Given the description of an element on the screen output the (x, y) to click on. 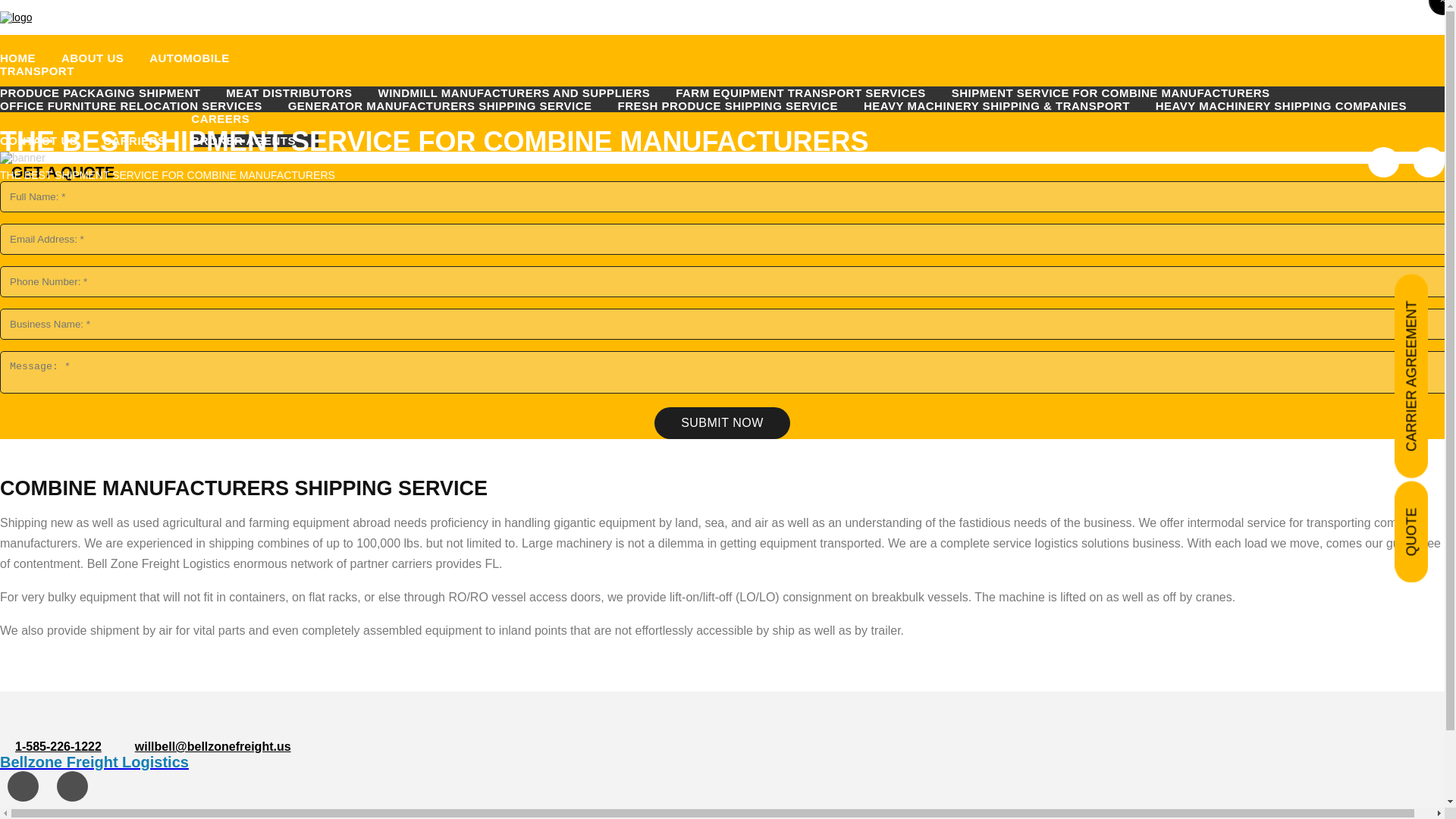
Submit Now (721, 422)
HEAVY MACHINERY SHIPPING COMPANIES (1292, 105)
1-585-226-1222 (57, 746)
CAREERS (231, 118)
Click to Send Mail (213, 746)
OFFICE FURNITURE RELOCATION SERVICES (142, 105)
FARM EQUIPMENT TRANSPORT SERVICES (812, 92)
SHIPMENT SERVICE FOR COMBINE MANUFACTURERS (1122, 92)
MEAT DISTRIBUTORS (299, 92)
FRESH PRODUCE SHIPPING SERVICE (738, 105)
